Given the description of an element on the screen output the (x, y) to click on. 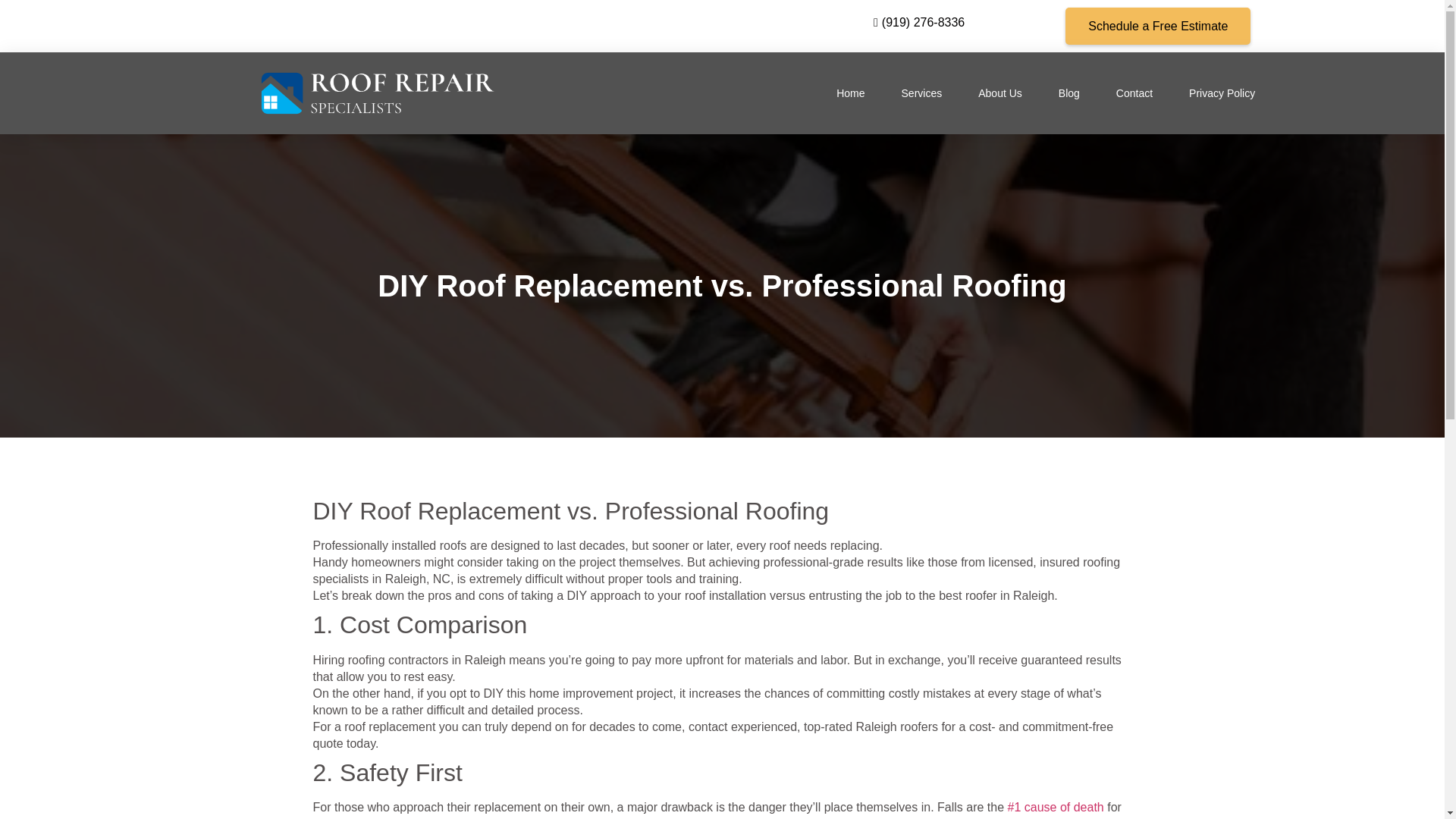
Blog (1069, 92)
Privacy Policy (1222, 92)
Services (921, 92)
Contact (1134, 92)
Schedule a Free Estimate (1157, 26)
About Us (1000, 92)
Home (849, 92)
